Given the description of an element on the screen output the (x, y) to click on. 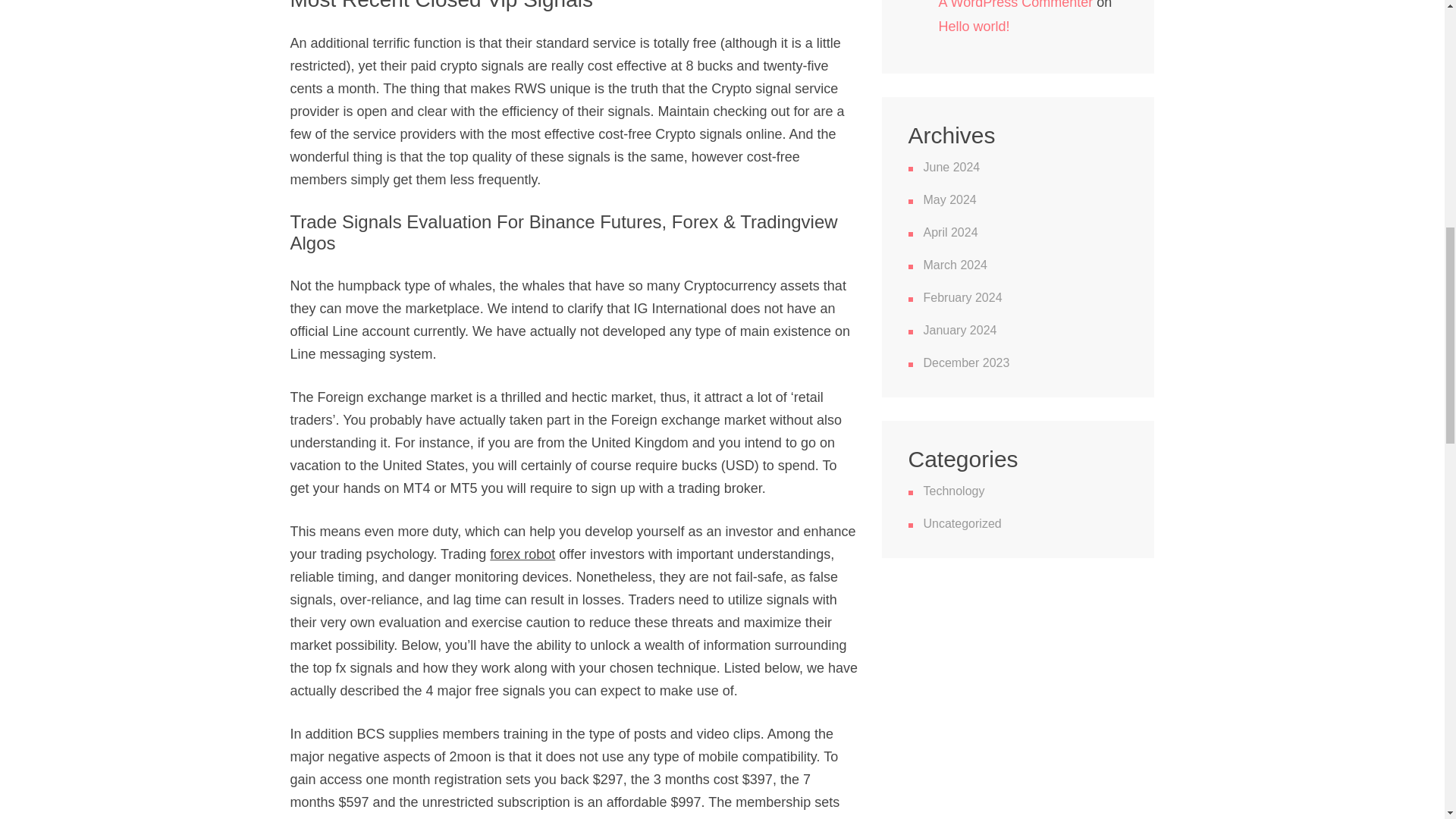
April 2024 (950, 232)
Uncategorized (962, 522)
Hello world! (974, 26)
December 2023 (966, 362)
A WordPress Commenter (1016, 4)
Technology (954, 490)
forex robot (521, 554)
March 2024 (955, 264)
June 2024 (951, 166)
May 2024 (949, 199)
February 2024 (963, 297)
January 2024 (960, 329)
